Given the description of an element on the screen output the (x, y) to click on. 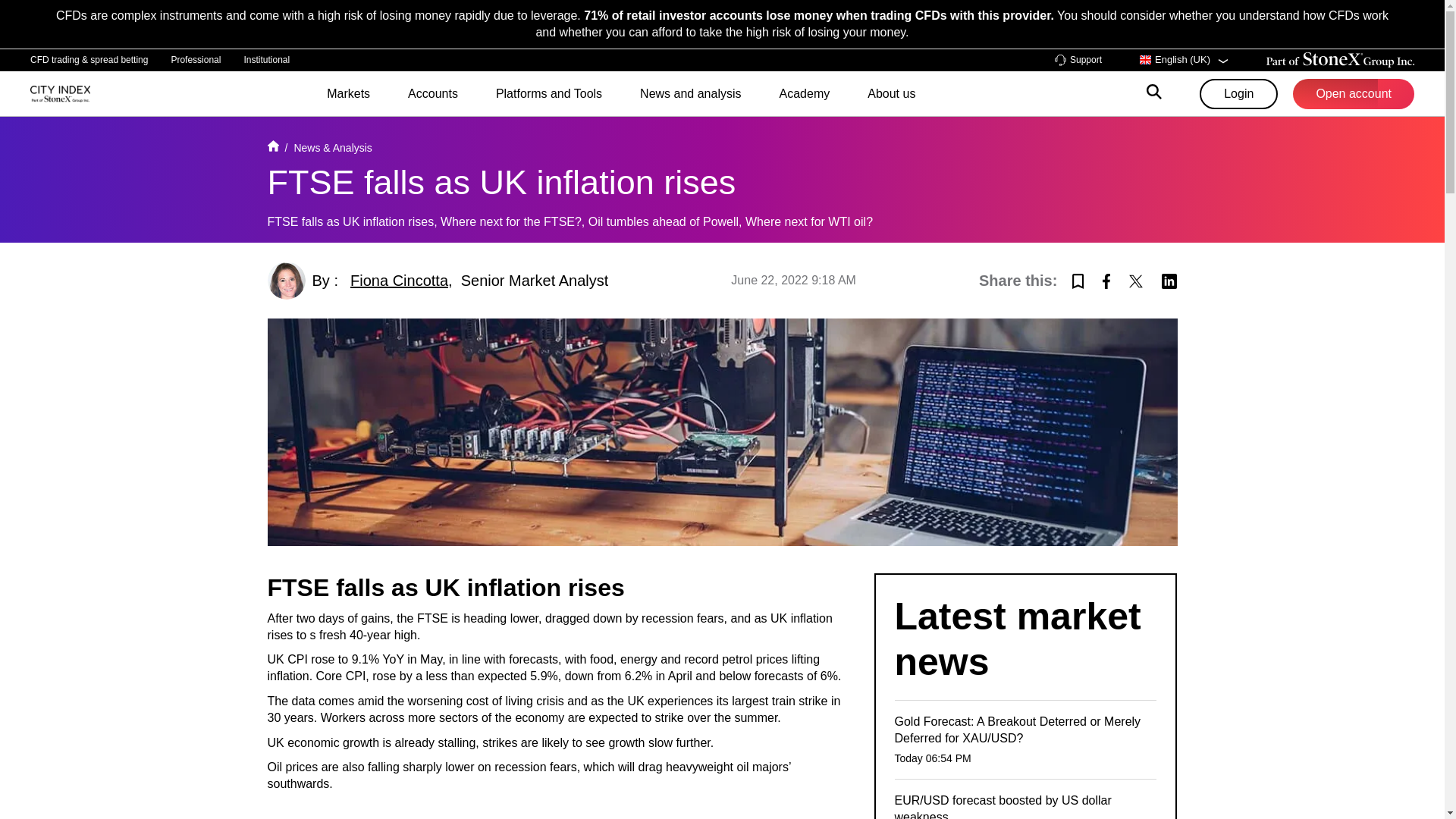
Share to LinkedIn (1168, 279)
Institutional (266, 59)
Home (60, 93)
Share to X (1135, 279)
Home (272, 147)
search (1154, 93)
Fiona Cincotta (399, 280)
News and Analysis (332, 147)
Support (1078, 60)
Professional (195, 59)
